Given the description of an element on the screen output the (x, y) to click on. 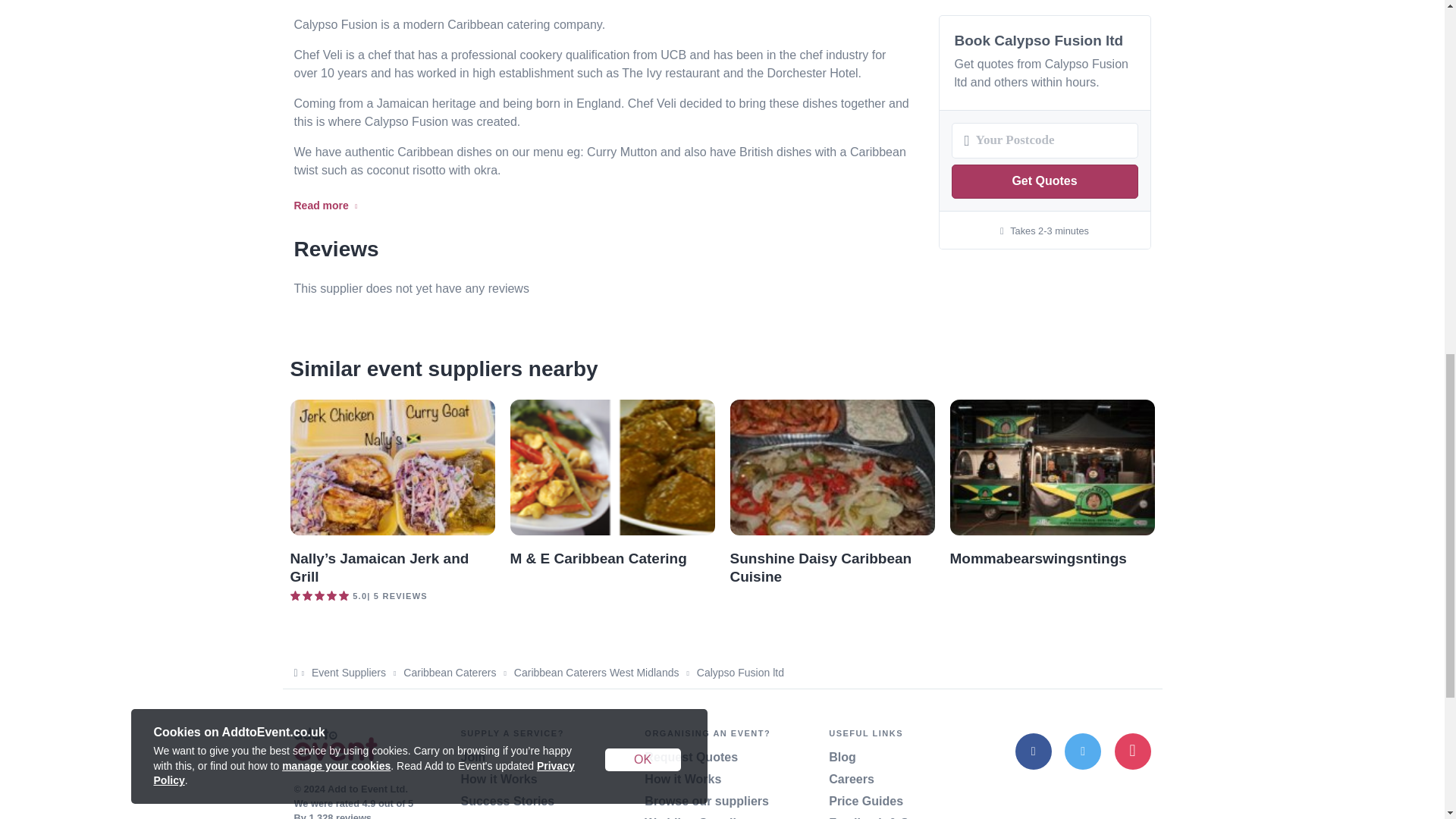
Home (335, 746)
